Given the description of an element on the screen output the (x, y) to click on. 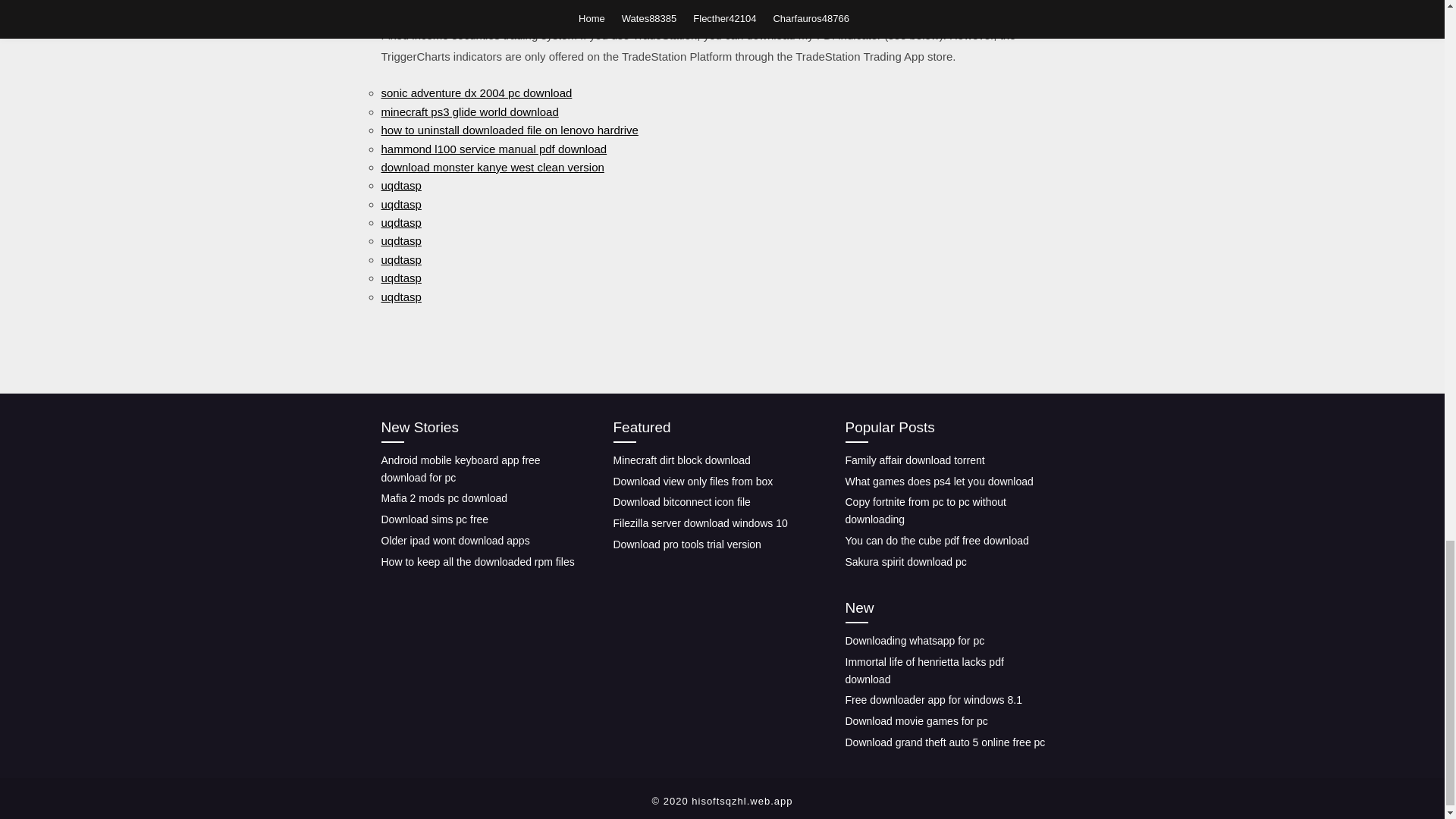
Download pro tools trial version (686, 544)
Immortal life of henrietta lacks pdf download (923, 670)
Downloading whatsapp for pc (914, 640)
uqdtasp (400, 222)
Minecraft dirt block download (680, 460)
uqdtasp (400, 277)
Family affair download torrent (914, 460)
uqdtasp (400, 259)
sonic adventure dx 2004 pc download (476, 92)
You can do the cube pdf free download (935, 540)
How to keep all the downloaded rpm files (476, 561)
uqdtasp (400, 204)
Download movie games for pc (915, 720)
Android mobile keyboard app free download for pc (460, 469)
minecraft ps3 glide world download (468, 111)
